Given the description of an element on the screen output the (x, y) to click on. 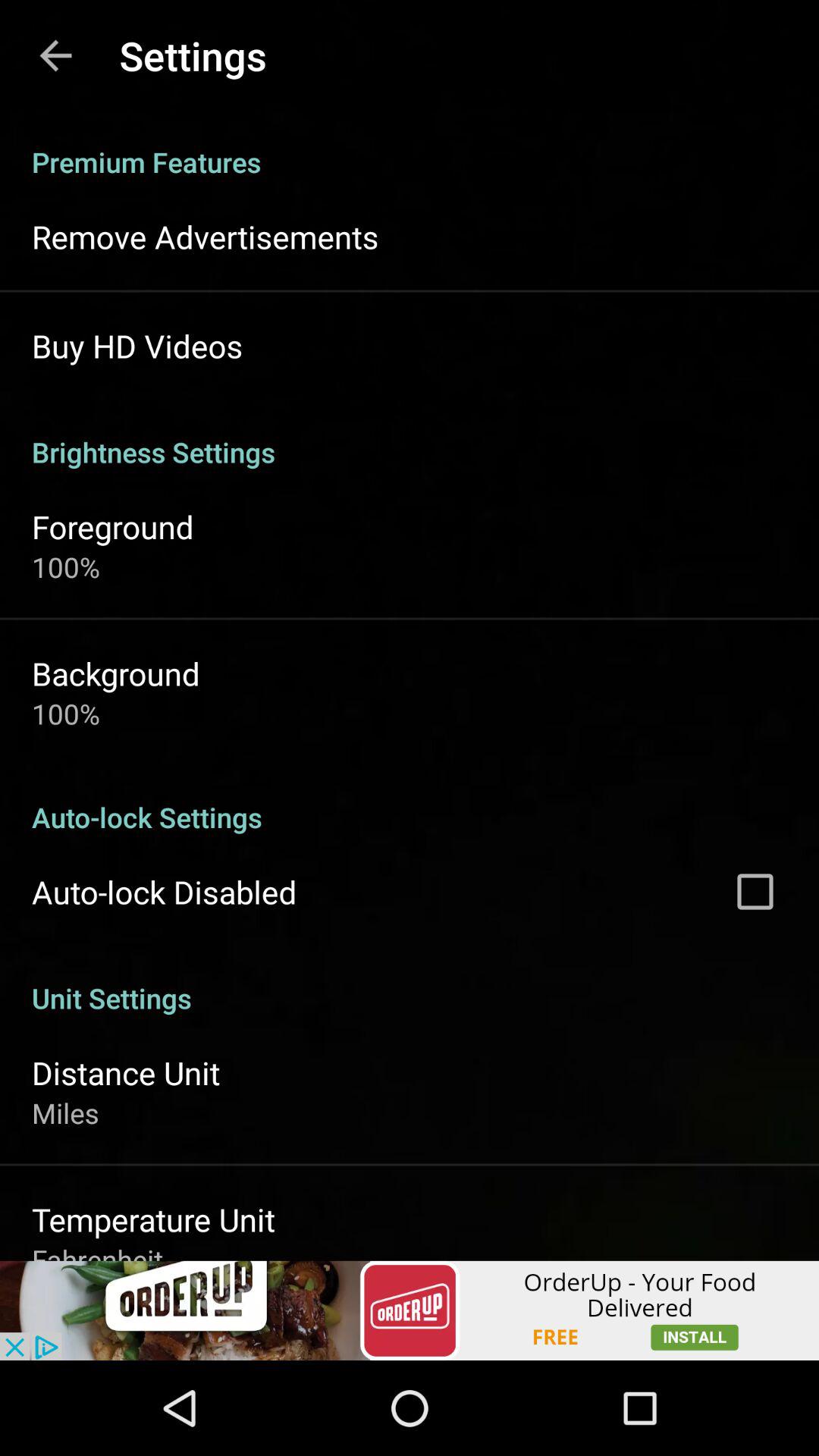
go to advertisement (409, 1310)
